Given the description of an element on the screen output the (x, y) to click on. 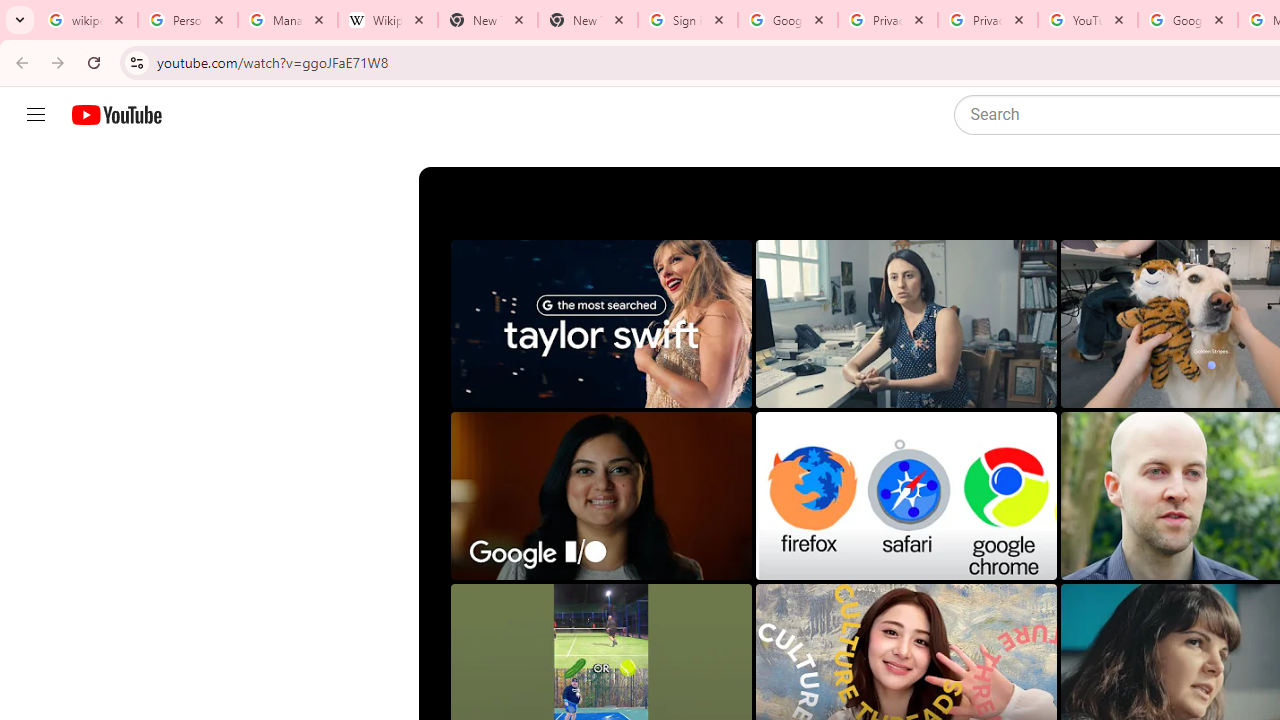
Guide (35, 115)
YouTube Home (116, 115)
Google Drive: Sign-in (788, 20)
Personalization & Google Search results - Google Search Help (188, 20)
Google Account Help (1187, 20)
New Tab (487, 20)
New Tab (587, 20)
